Given the description of an element on the screen output the (x, y) to click on. 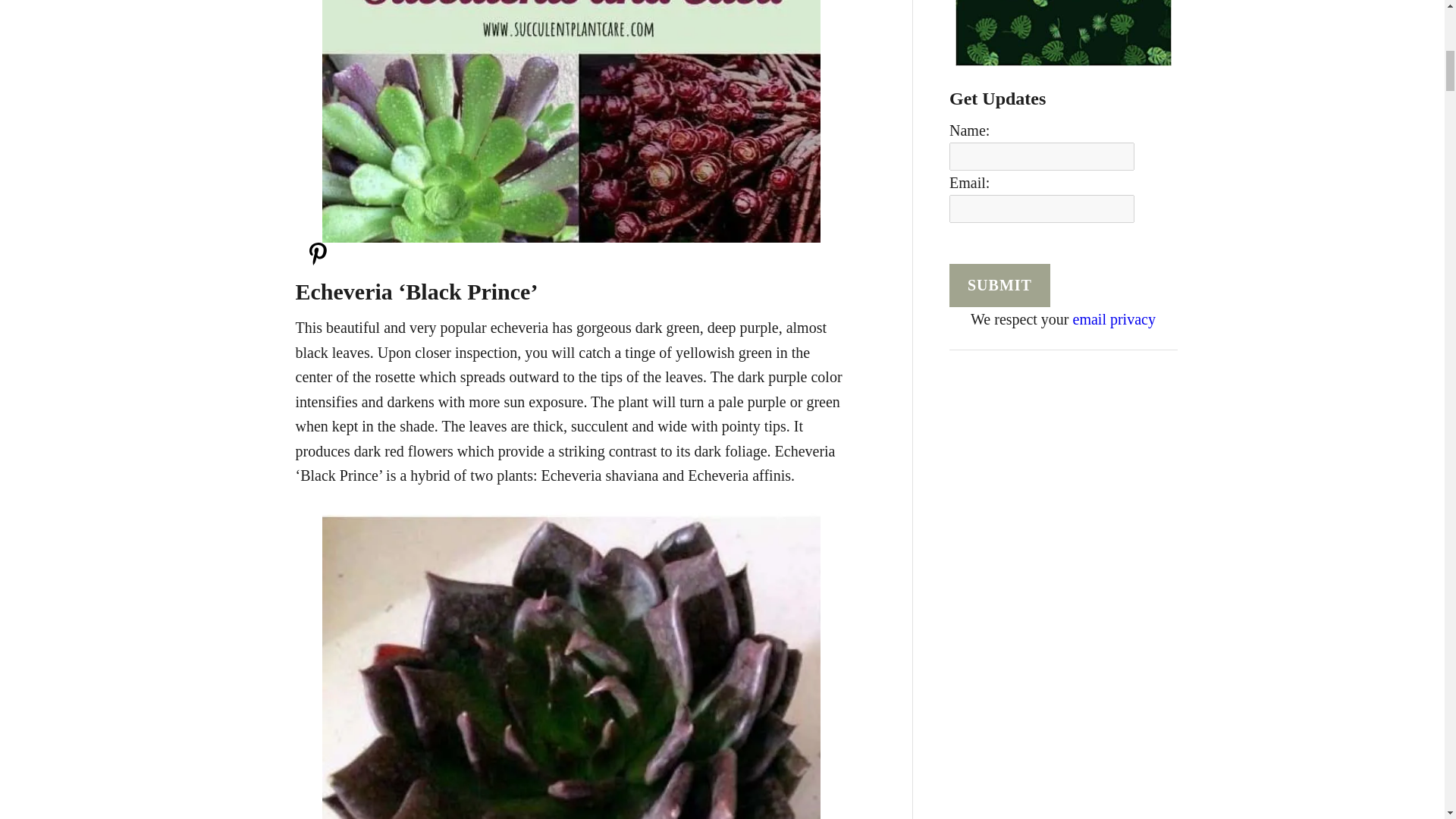
Submit (999, 285)
Pin This Photo (317, 261)
